Given the description of an element on the screen output the (x, y) to click on. 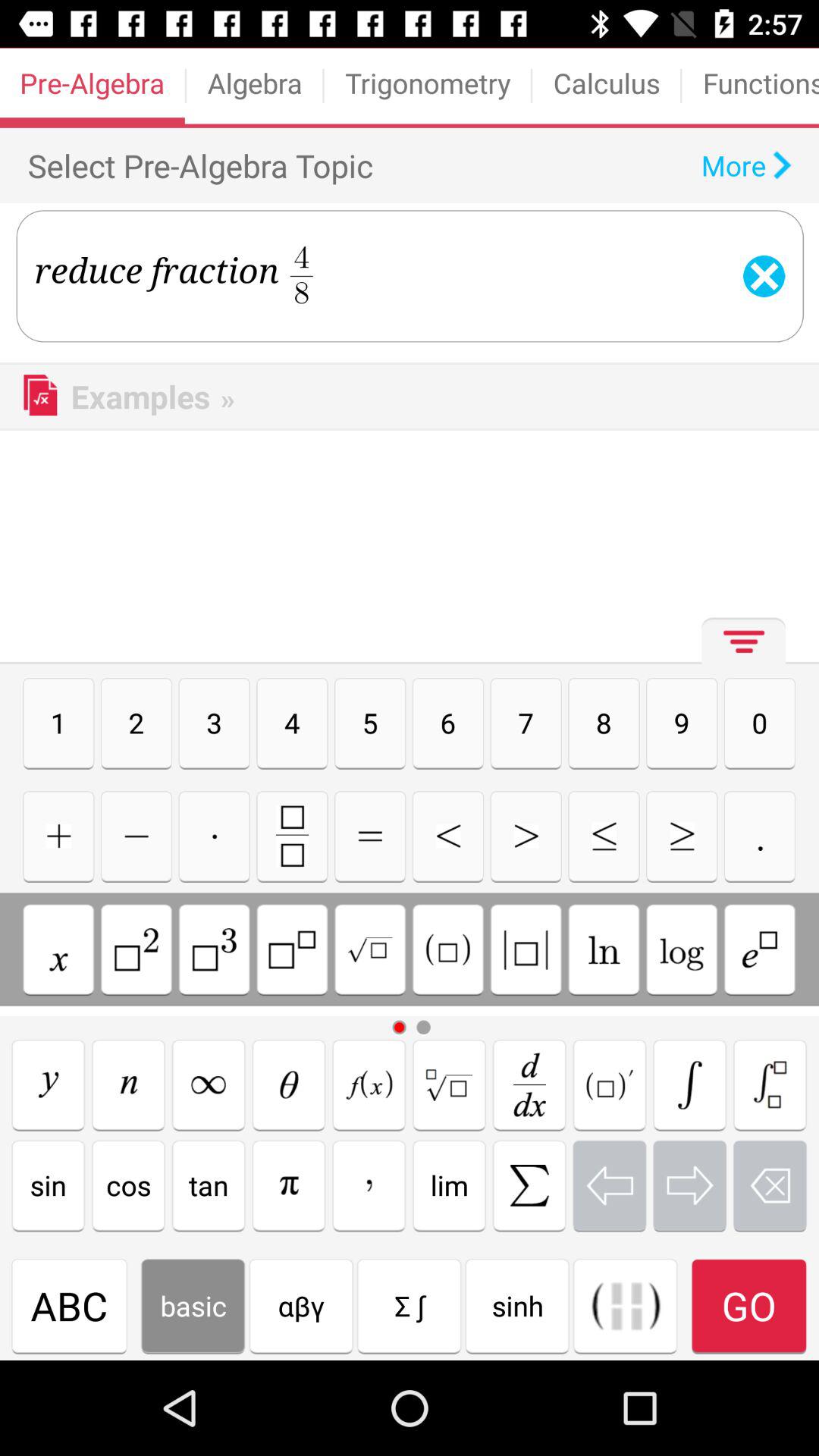
input infinity symbol (208, 1084)
